Given the description of an element on the screen output the (x, y) to click on. 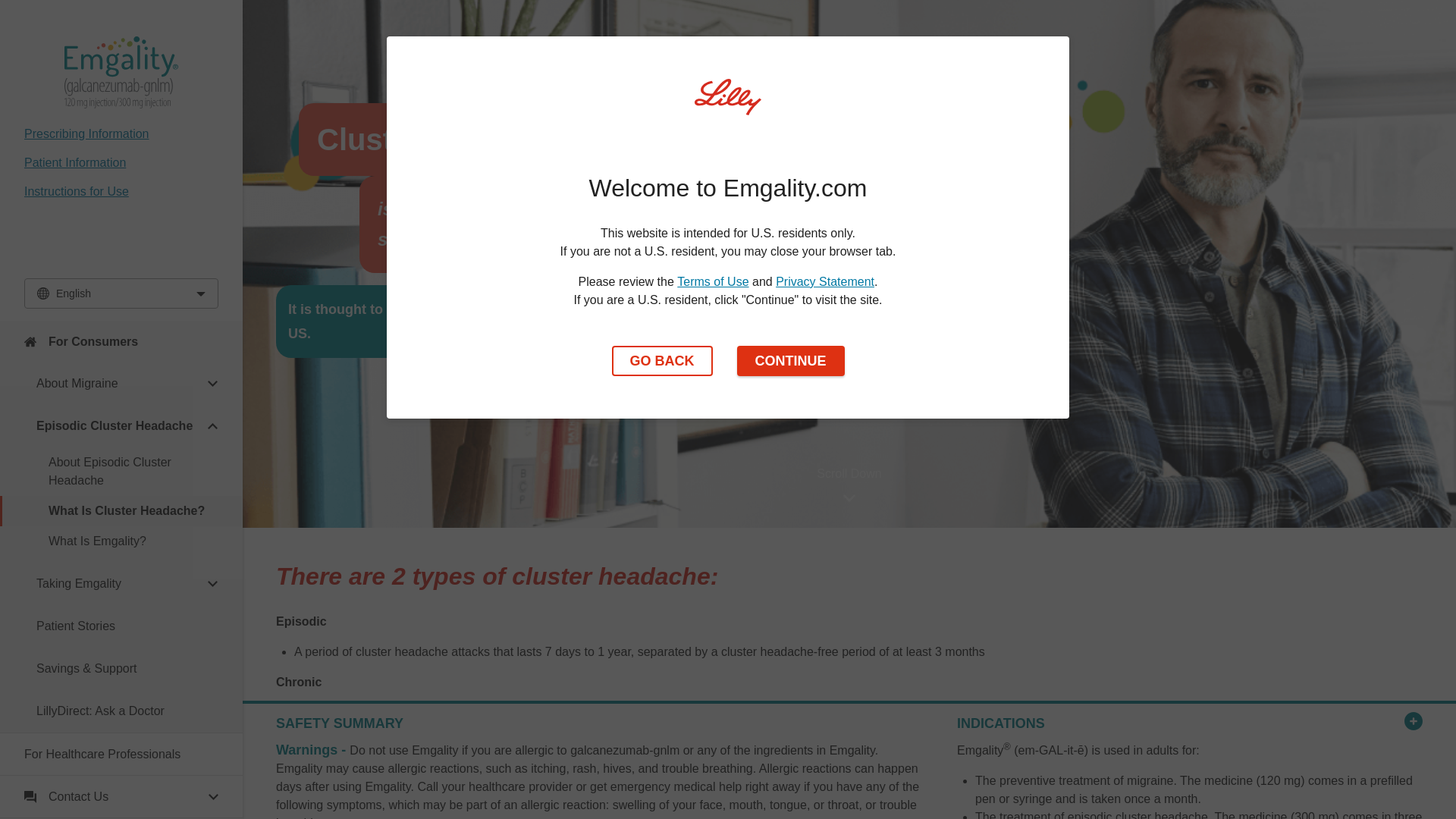
Prescribing Information (86, 133)
For Consumers (121, 341)
Instructions for Use (76, 191)
House (30, 341)
Open Contact Us (121, 796)
English (120, 293)
Patient Information (74, 162)
Globe (43, 293)
Chat (30, 797)
